Given the description of an element on the screen output the (x, y) to click on. 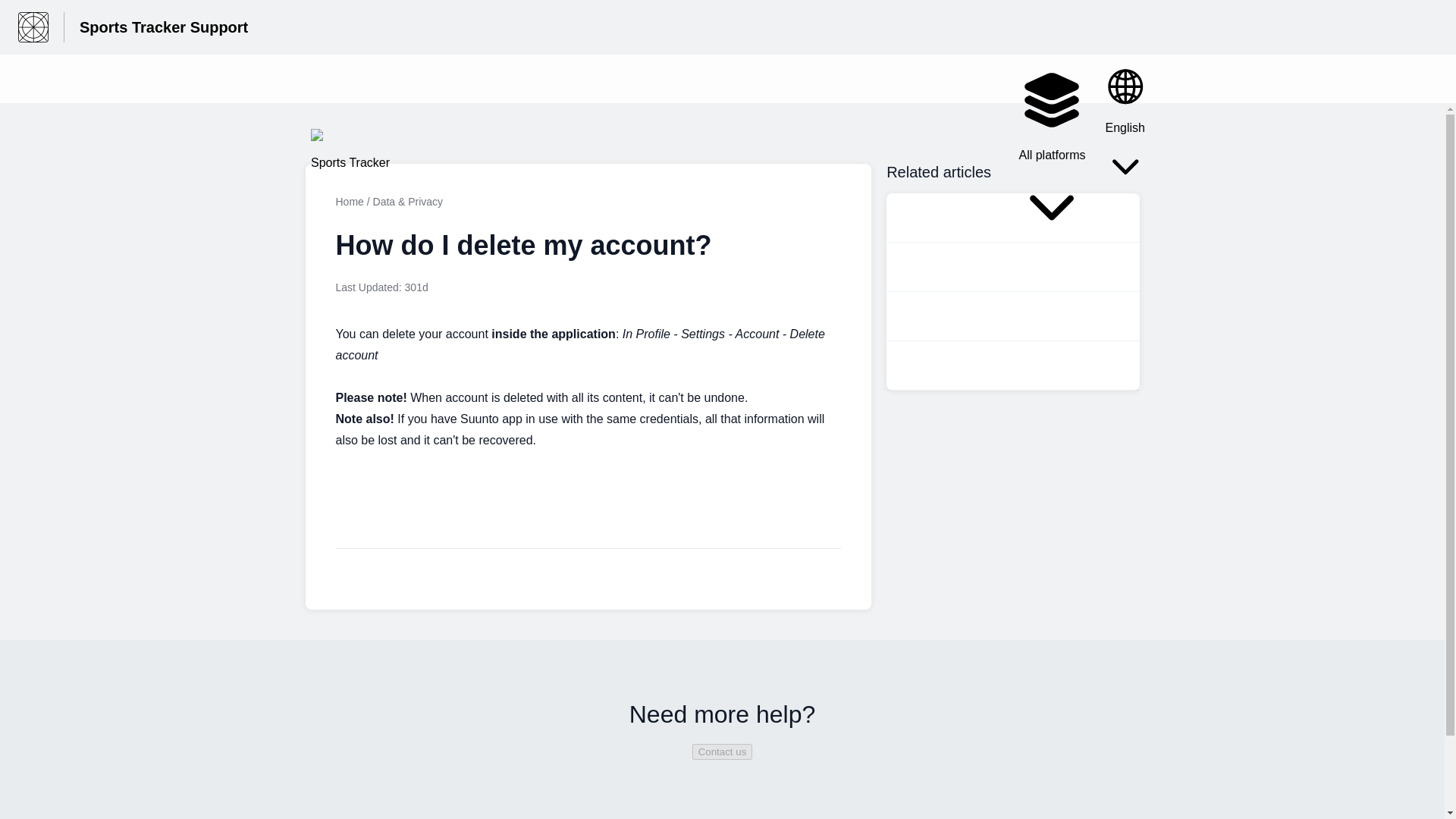
Home (348, 201)
Sports Tracker Support (163, 27)
